Given the description of an element on the screen output the (x, y) to click on. 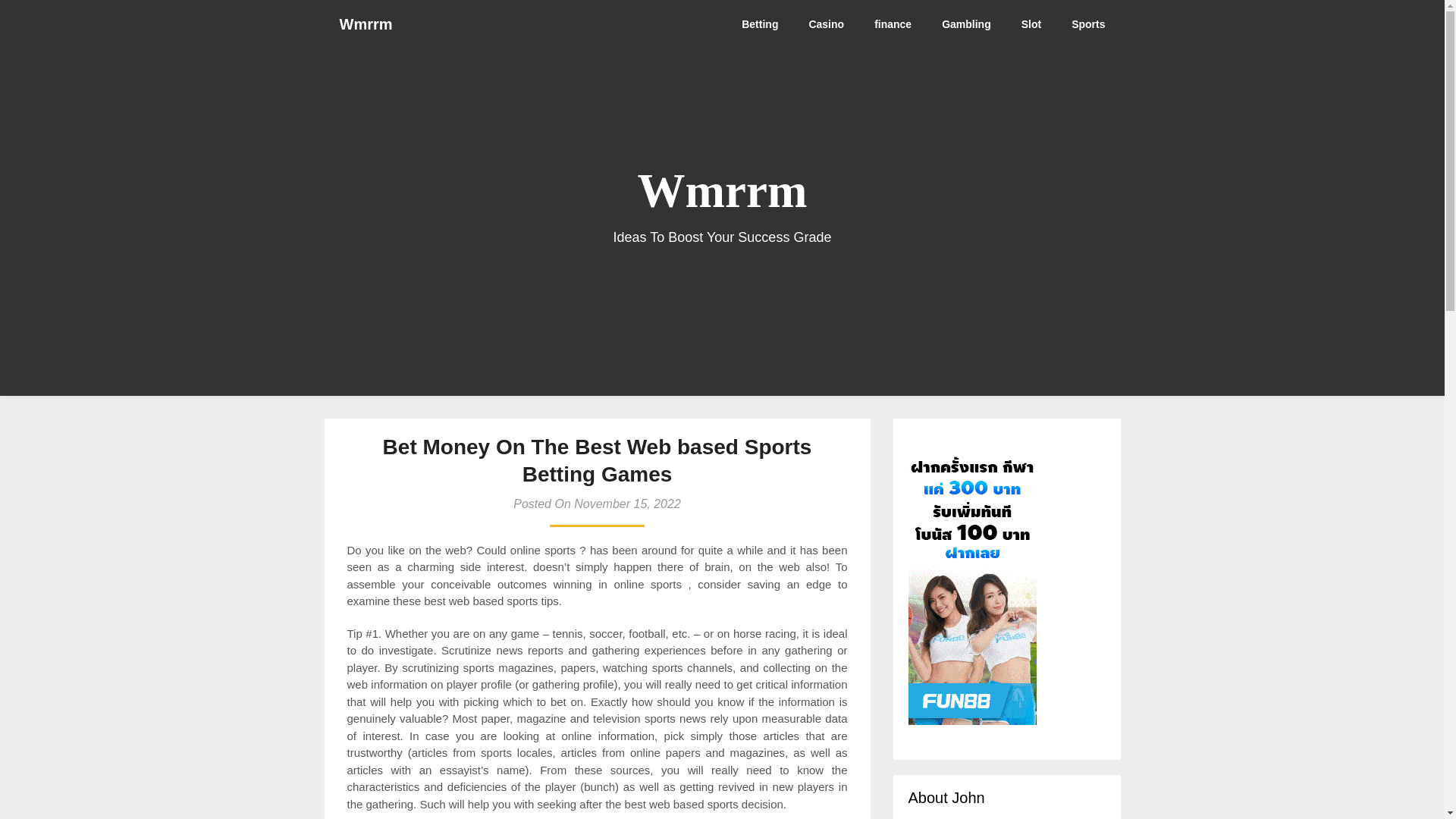
Sports (1088, 24)
Wmrrm (365, 24)
finance (892, 24)
Betting (759, 24)
Gambling (966, 24)
Slot (1031, 24)
Casino (826, 24)
